Given the description of an element on the screen output the (x, y) to click on. 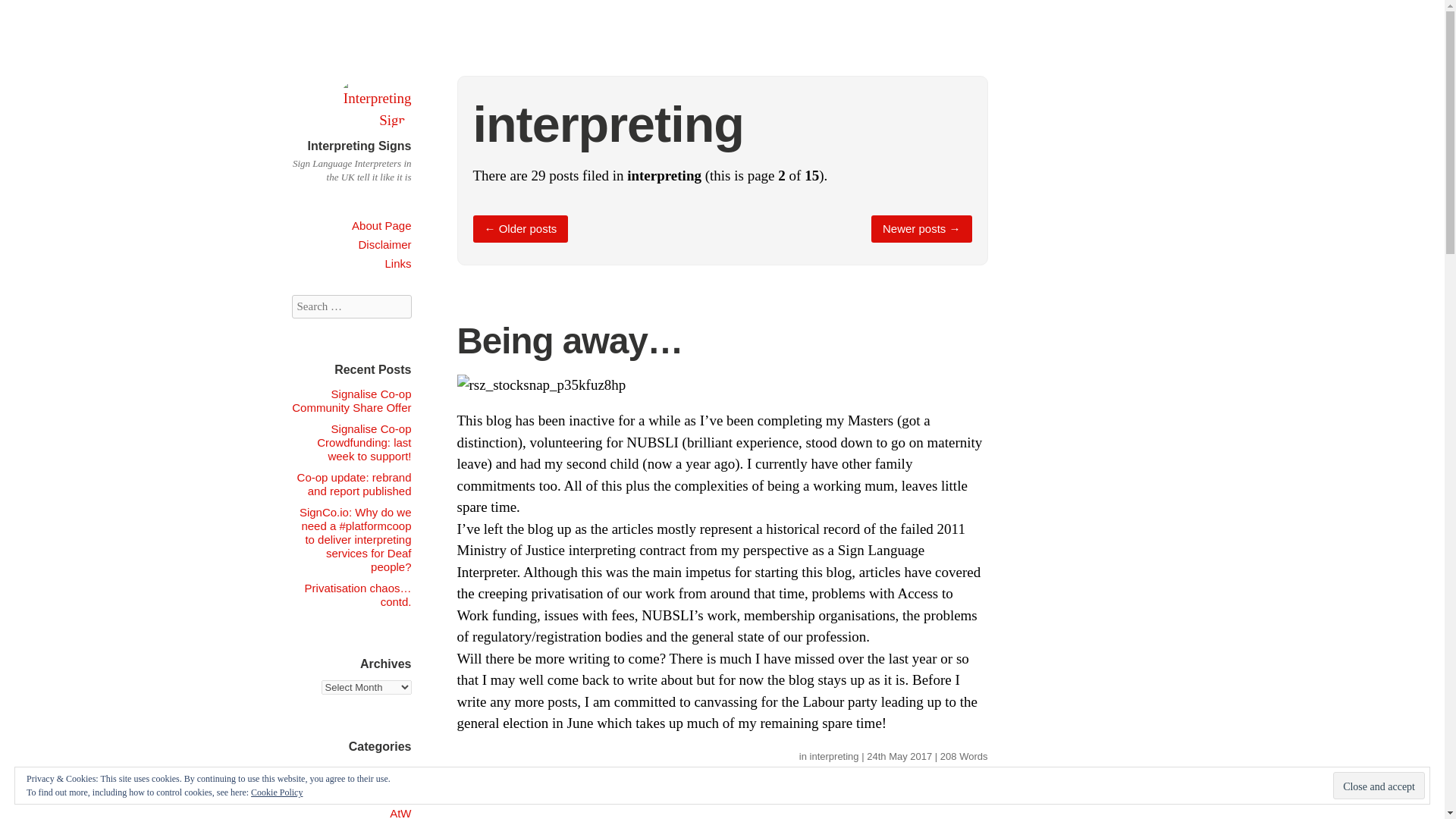
Signalise Co-op Community Share Offer (351, 400)
Co-op update: rebrand and report published (354, 483)
Disclaimer (384, 244)
interpreting (834, 756)
Signalise Co-op Crowdfunding: last week to support! (363, 442)
Search (29, 13)
Close and accept (1379, 785)
agencies (387, 791)
Access to Work (372, 770)
AtW (400, 812)
Interpreting Signs (359, 145)
Interpreting Signs (372, 119)
About Page (381, 225)
Links (397, 263)
24th May 2017 (898, 756)
